Given the description of an element on the screen output the (x, y) to click on. 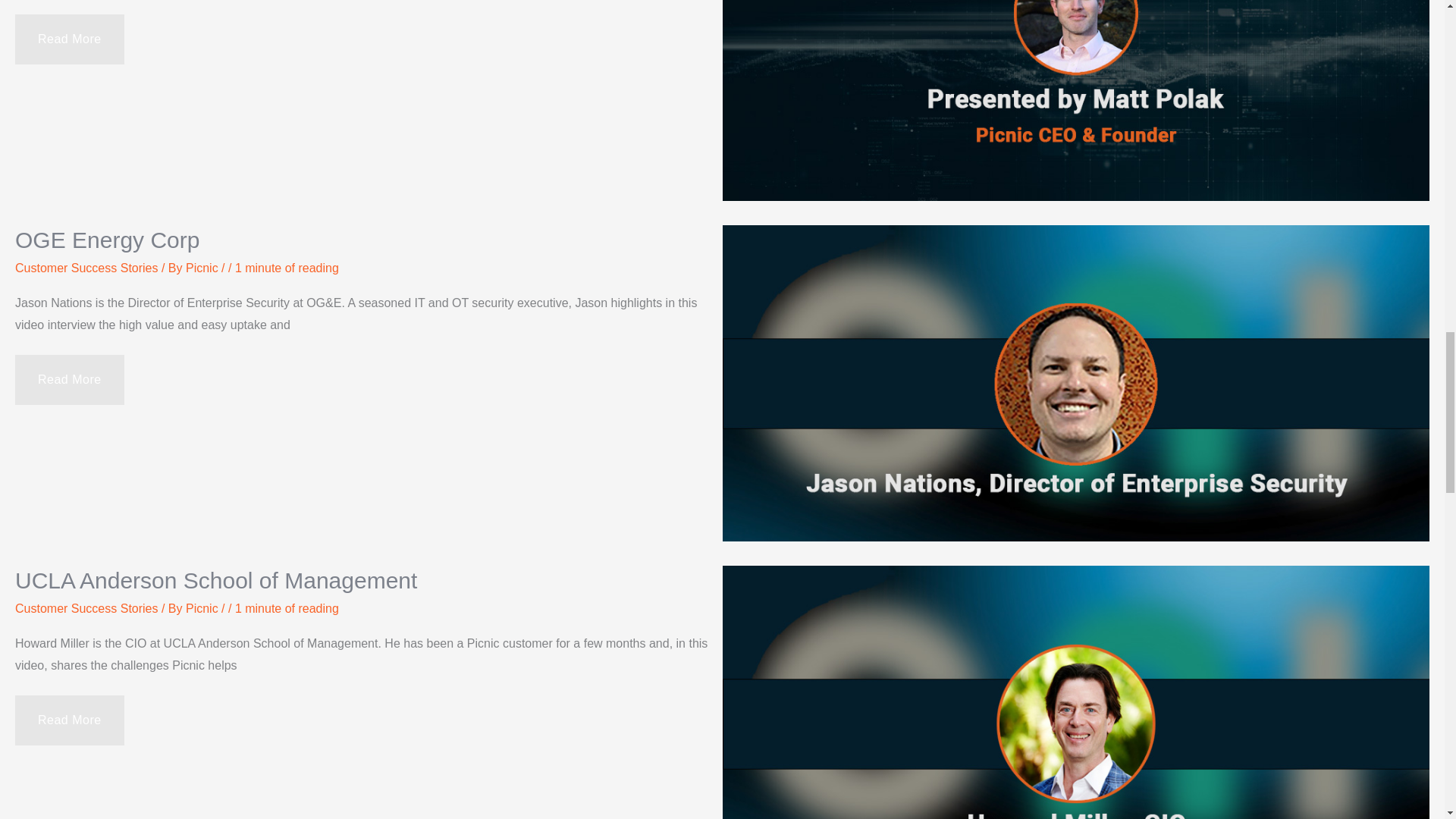
View all posts by Picnic (203, 267)
View all posts by Picnic (203, 608)
